Given the description of an element on the screen output the (x, y) to click on. 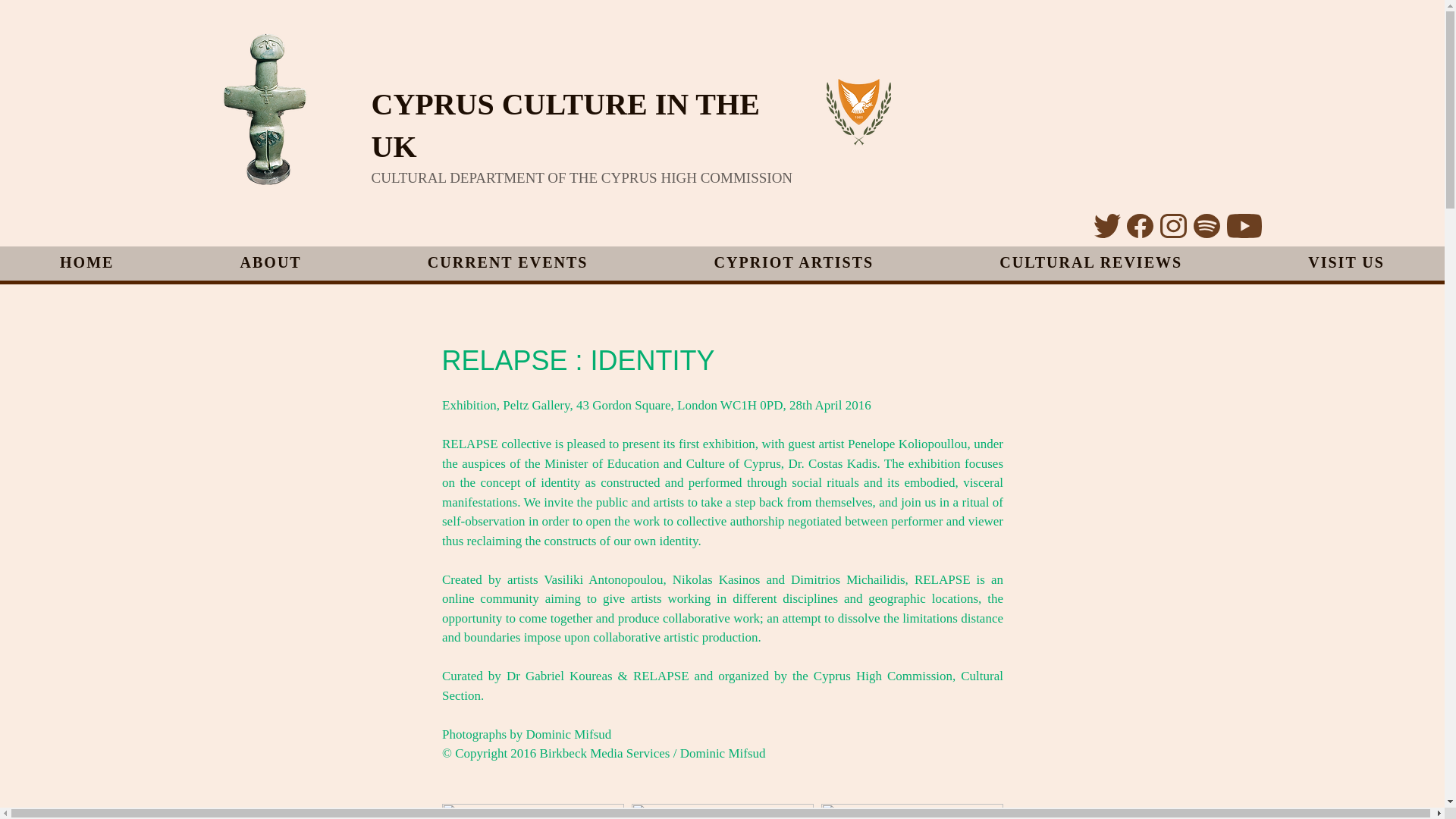
ABOUT (270, 263)
HOME (86, 263)
VISIT US (1345, 263)
CULTURAL REVIEWS (1090, 263)
CYPRIOT ARTISTS (793, 263)
CURRENT EVENTS (507, 263)
